Given the description of an element on the screen output the (x, y) to click on. 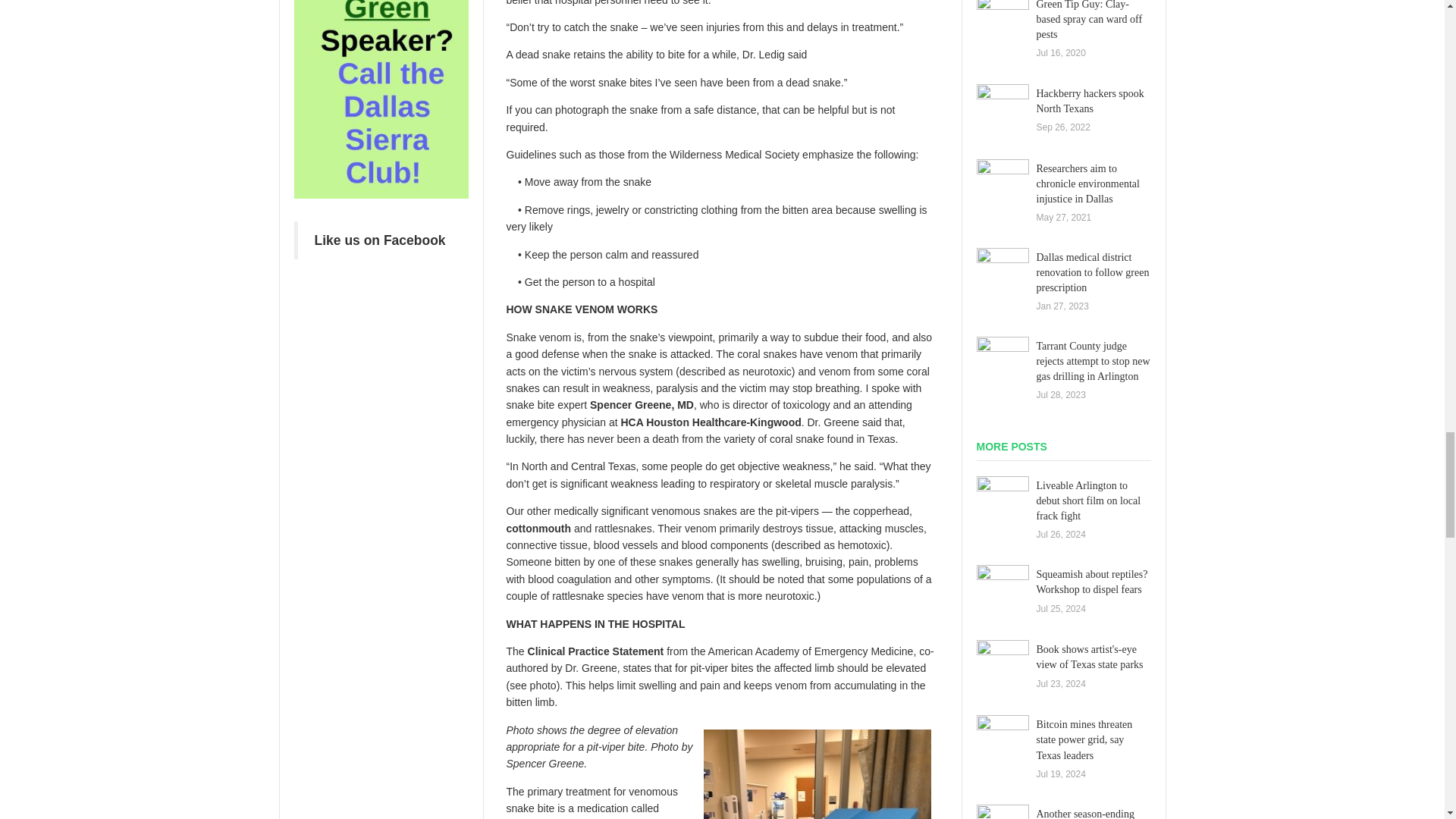
HCA Houston Healthcare-Kingwood (710, 422)
Clinical Practice Statement (595, 651)
Spencer Greene, MD (641, 404)
cottonmouth (539, 528)
